Given the description of an element on the screen output the (x, y) to click on. 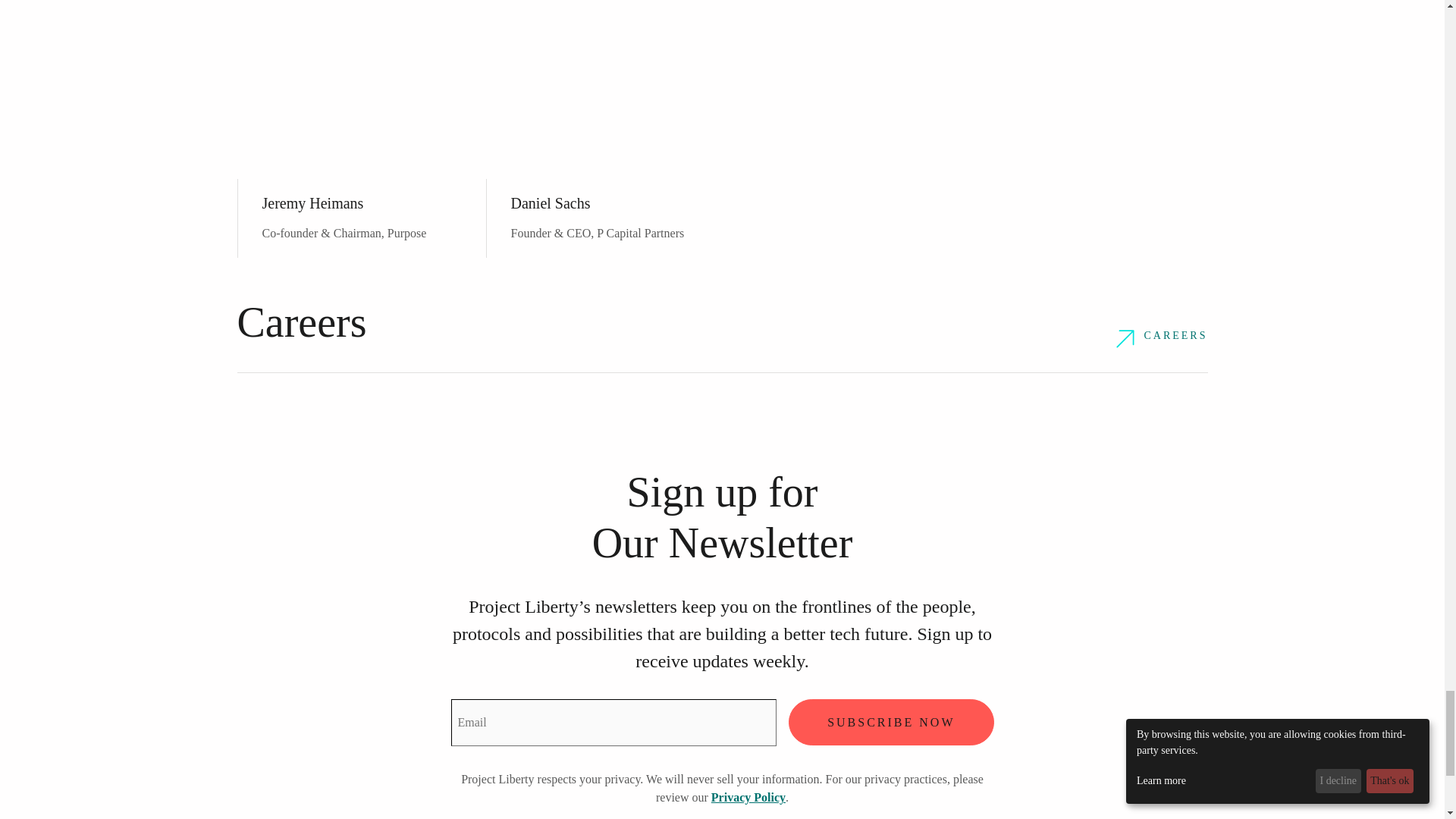
Subscribe now (890, 722)
Subscribe now (890, 722)
Privacy Policy (748, 797)
CAREERS (1161, 339)
